Given the description of an element on the screen output the (x, y) to click on. 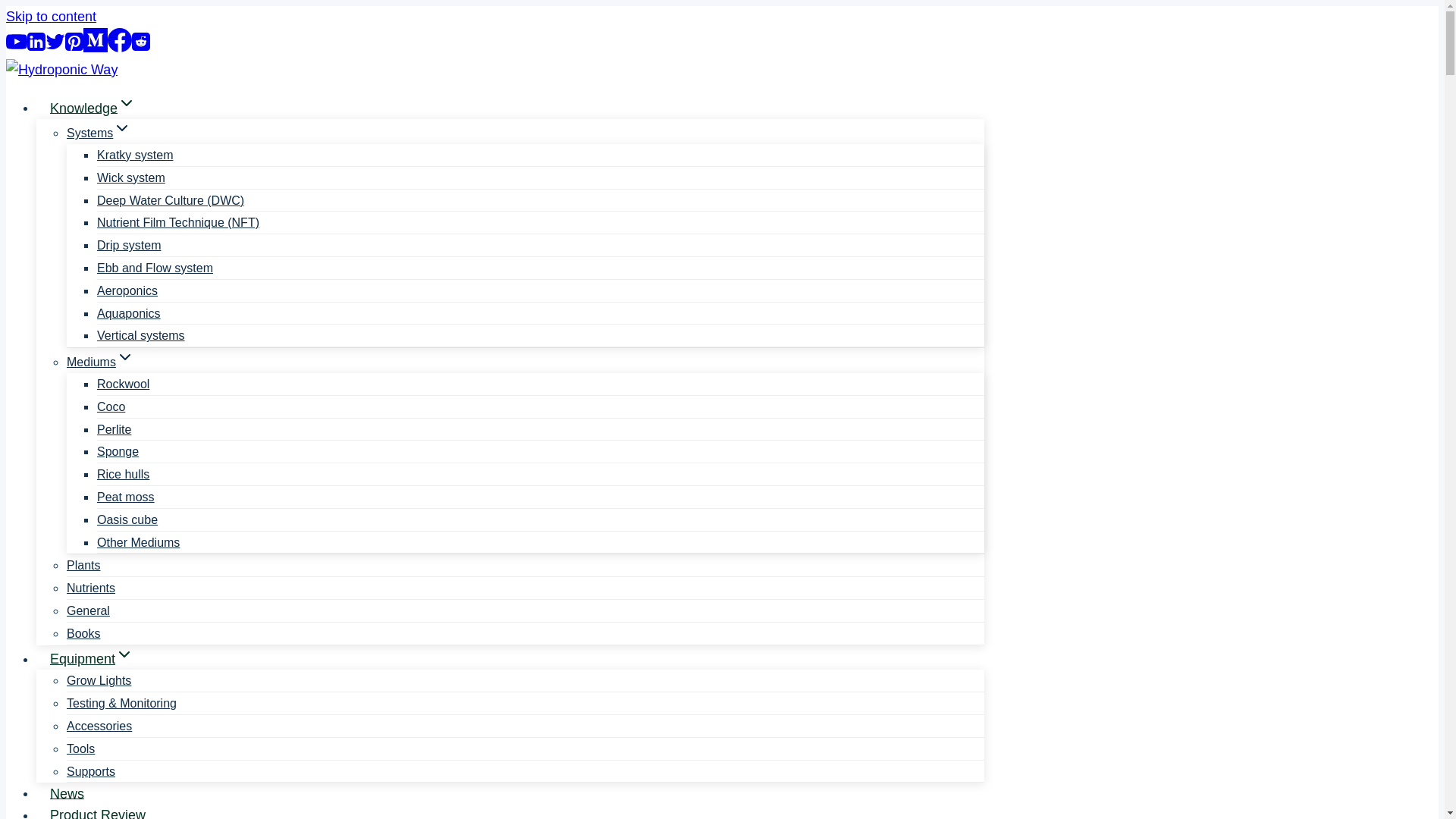
Grow Lights (98, 680)
Twitter (55, 41)
SystemsExpand (98, 132)
Reddit (140, 47)
Expand (126, 103)
Nutrients (90, 587)
Pinterest (73, 47)
Wick system (131, 177)
Plants (83, 565)
Twitter (55, 47)
Drip system (128, 244)
Aeroponics (127, 290)
Facebook (119, 39)
Linkedin (36, 47)
Kratky system (135, 154)
